Given the description of an element on the screen output the (x, y) to click on. 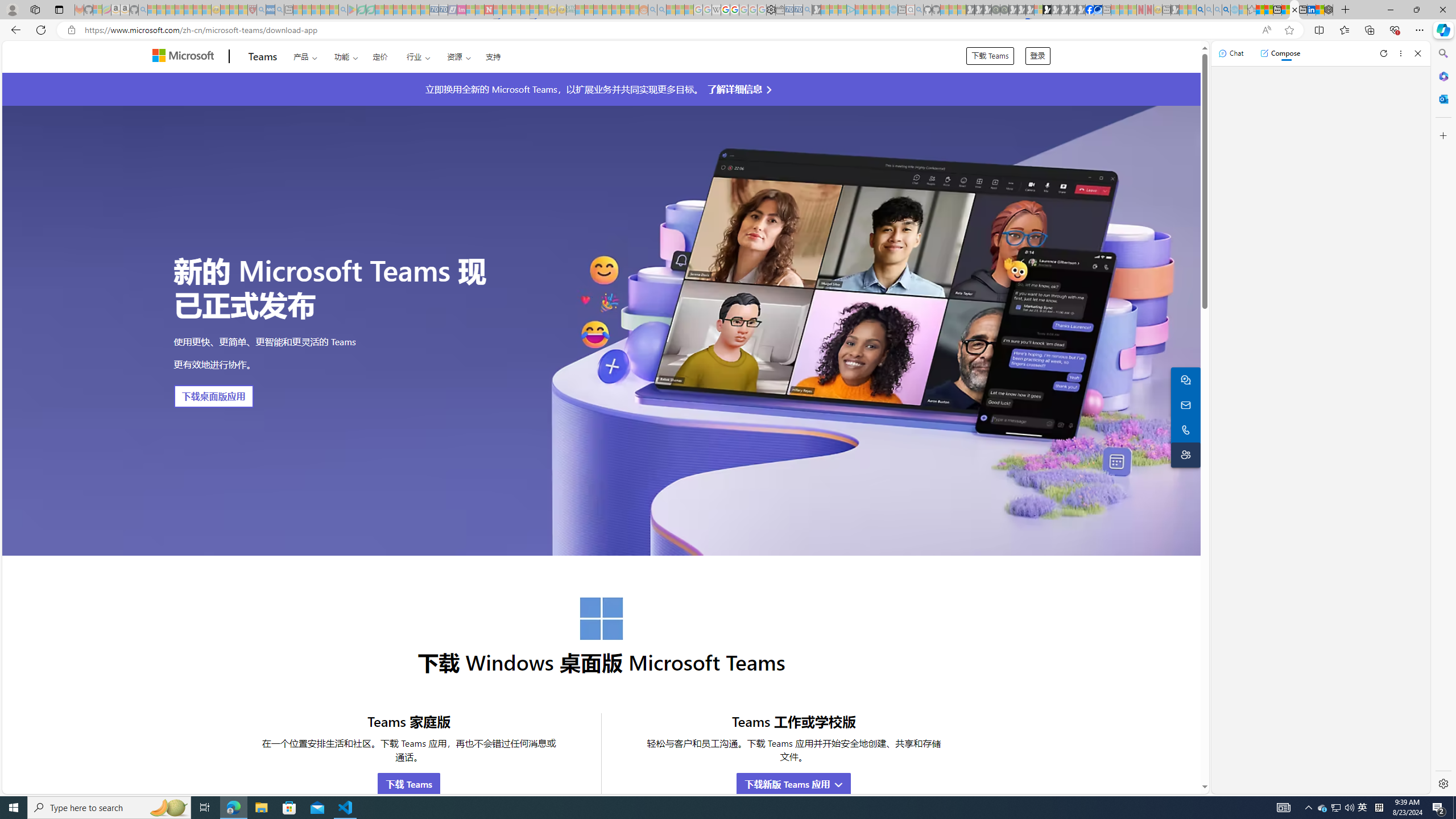
MSN - Sleeping (1174, 9)
DITOGAMES AG Imprint - Sleeping (570, 9)
Bing AI - Search (1200, 9)
Trusted Community Engagement and Contributions | Guidelines (497, 9)
Compose (1279, 52)
New Report Confirms 2023 Was Record Hot | Watch - Sleeping (188, 9)
